Given the description of an element on the screen output the (x, y) to click on. 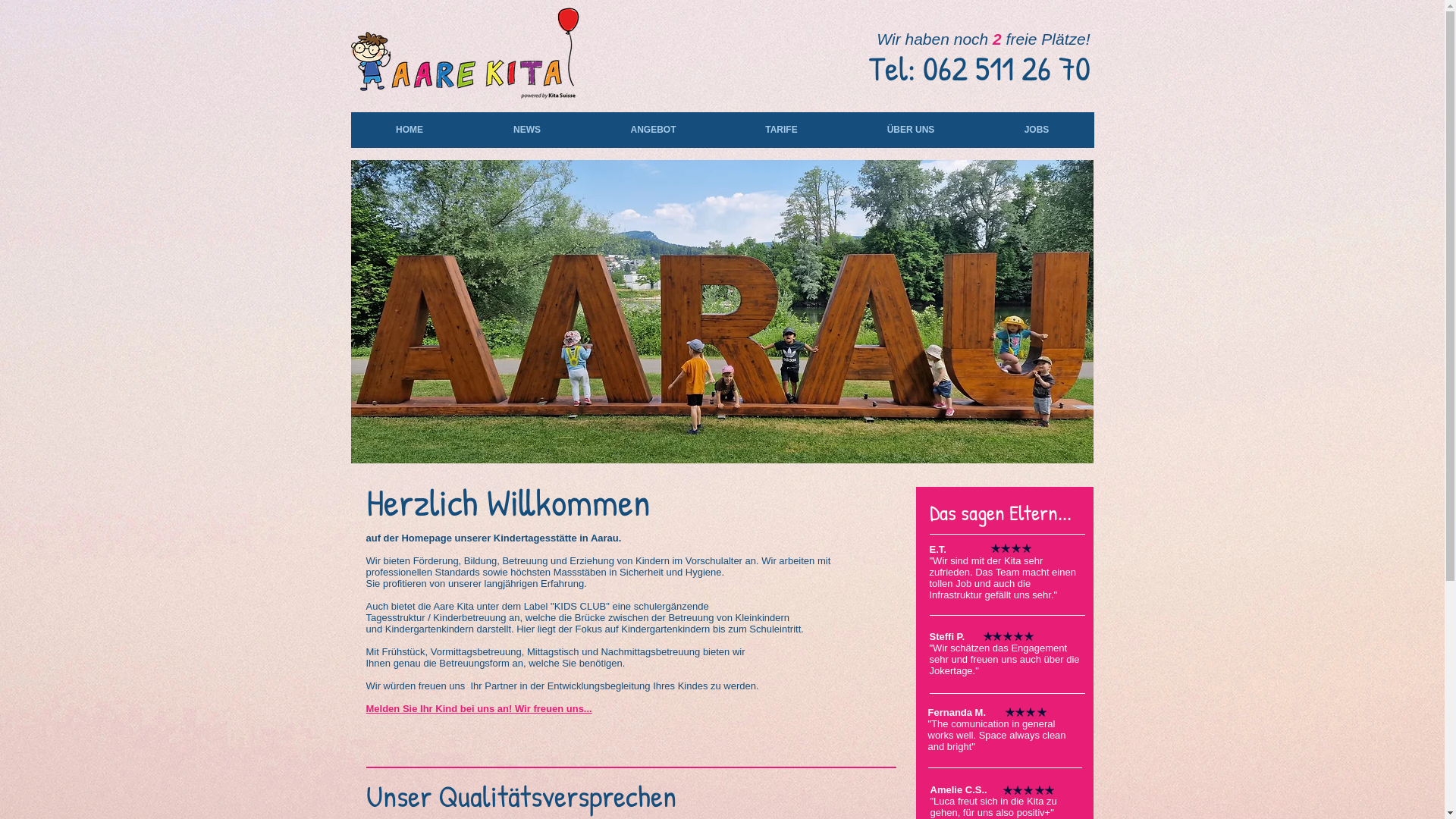
TARIFE Element type: text (780, 129)
Melden Sie Ihr Kind bei uns an! Wir freuen uns... Element type: text (478, 708)
HOME Element type: text (408, 129)
ANGEBOT Element type: text (652, 129)
JOBS Element type: text (1036, 129)
NEWS Element type: text (527, 129)
